Given the description of an element on the screen output the (x, y) to click on. 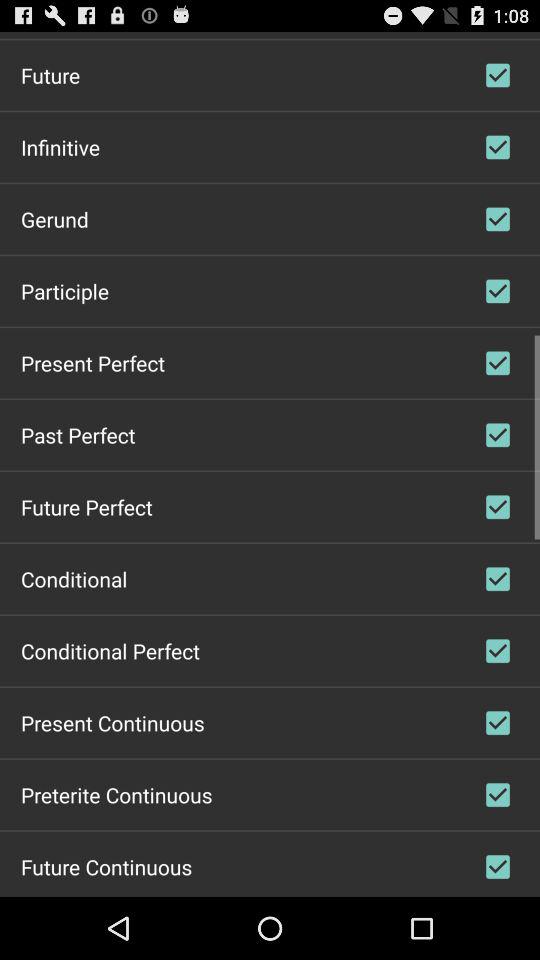
select item above the future perfect (78, 434)
